Given the description of an element on the screen output the (x, y) to click on. 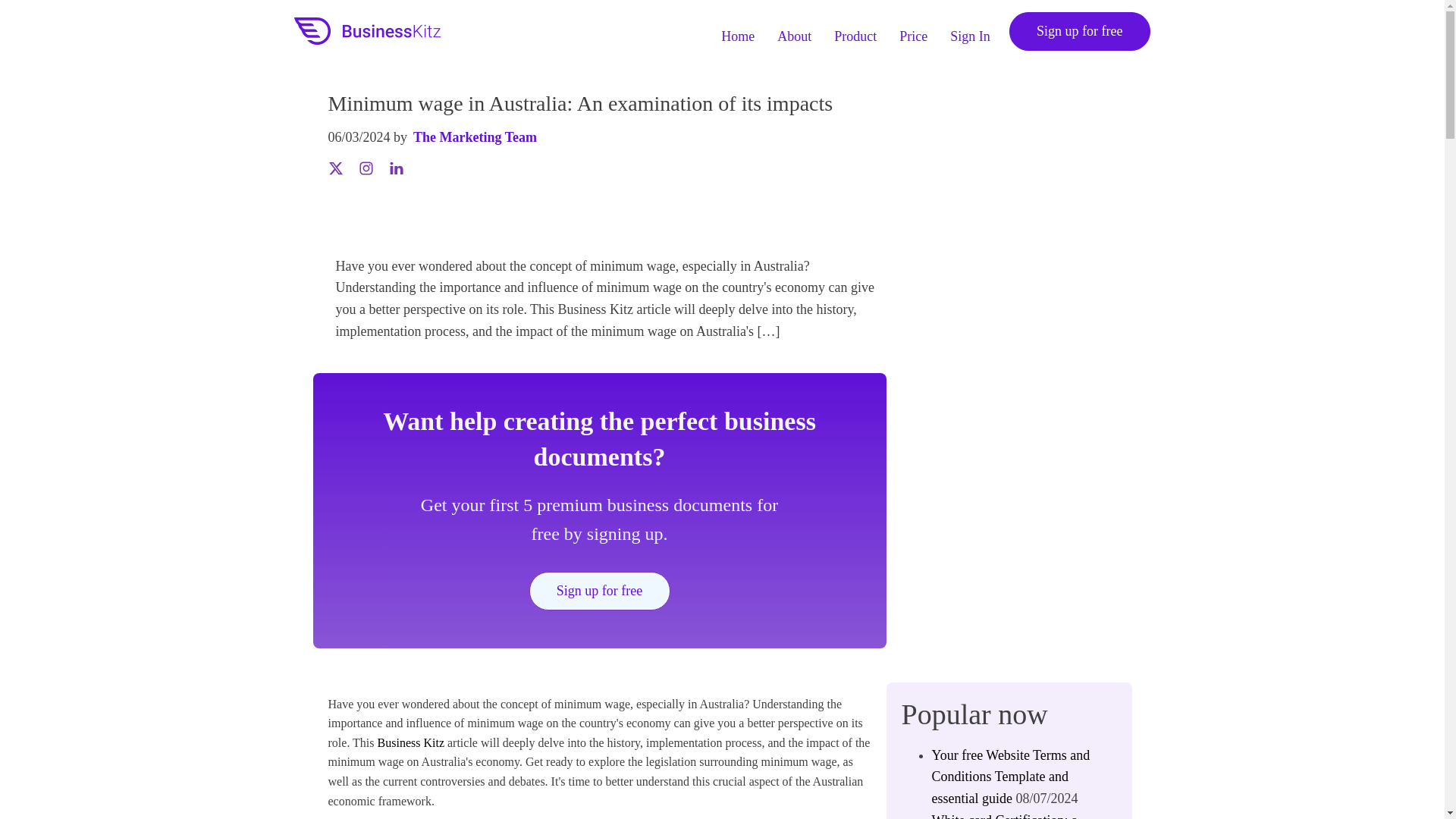
Sign up for free (599, 590)
Product (854, 30)
Price (913, 30)
About (794, 30)
Business Kitz (410, 742)
The Marketing Team (475, 137)
Home (737, 30)
Sign up for free (1079, 31)
Sign In (970, 30)
